Given the description of an element on the screen output the (x, y) to click on. 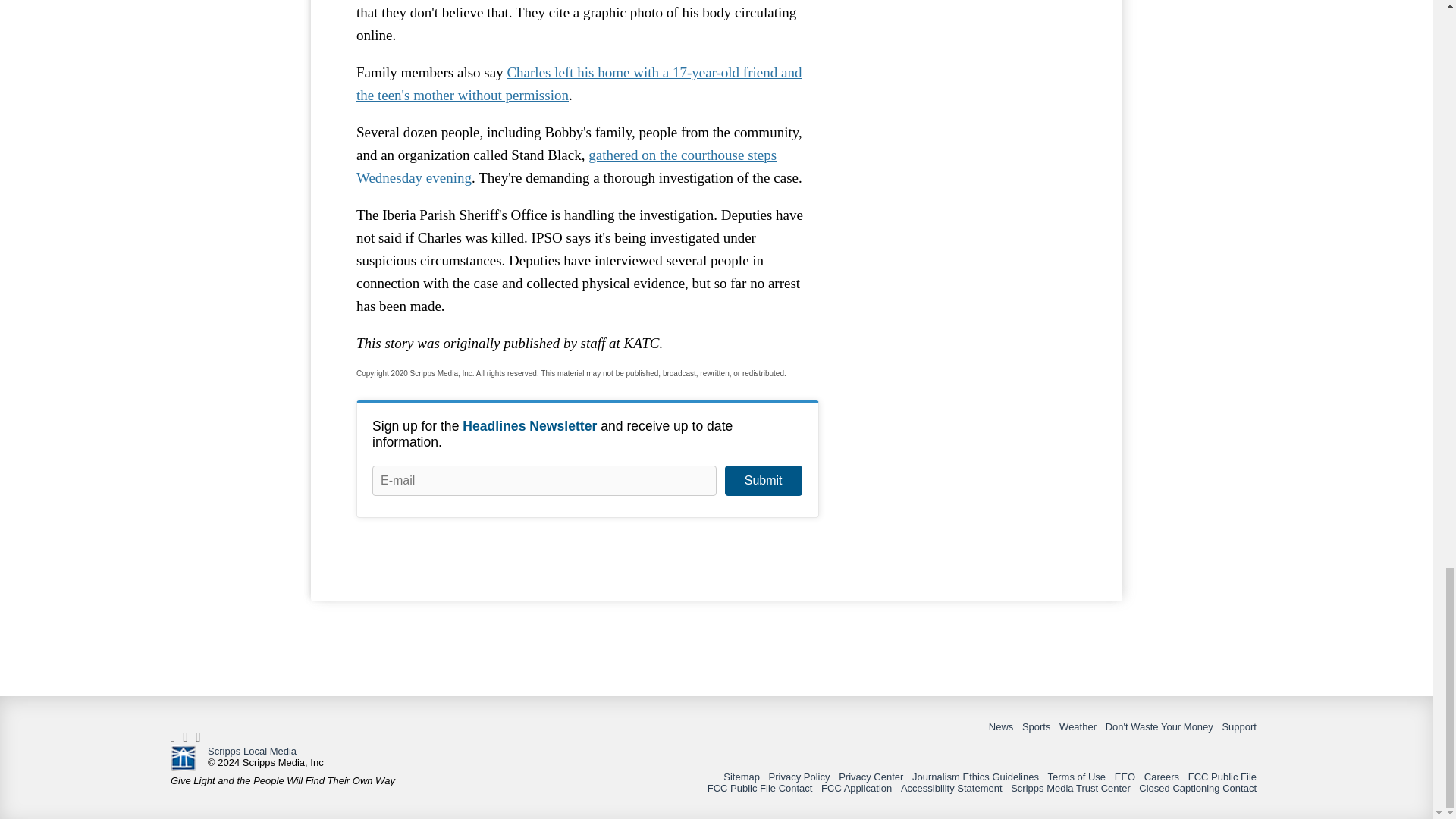
Submit (763, 481)
